Given the description of an element on the screen output the (x, y) to click on. 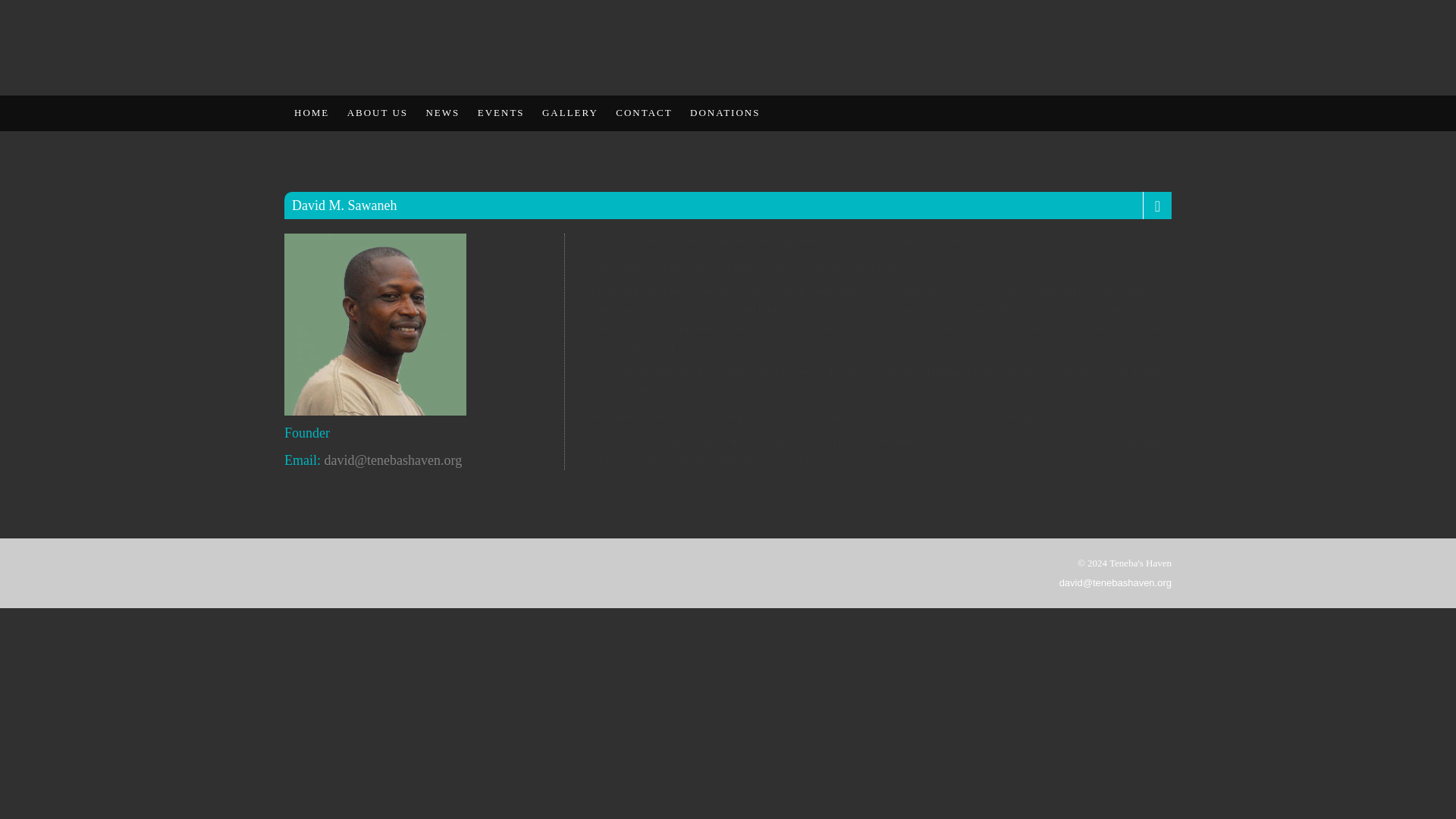
DONATIONS (723, 112)
HOME (310, 112)
EVENTS (499, 112)
CONTACT (642, 112)
GALLERY (568, 112)
NEWS (440, 112)
ABOUT US (376, 112)
